Given the description of an element on the screen output the (x, y) to click on. 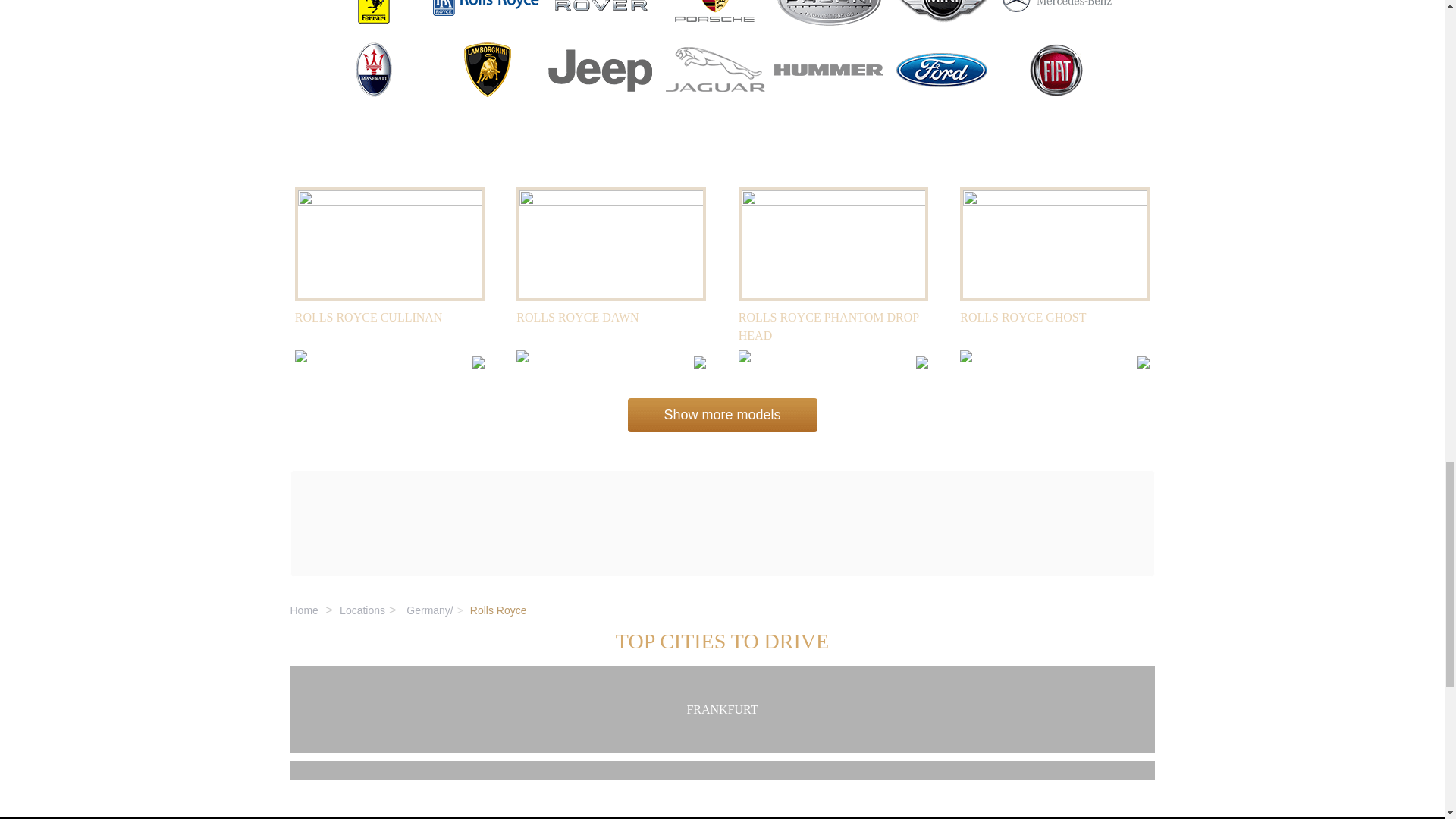
ROLLS ROYCE CULLINAN (368, 317)
